Given the description of an element on the screen output the (x, y) to click on. 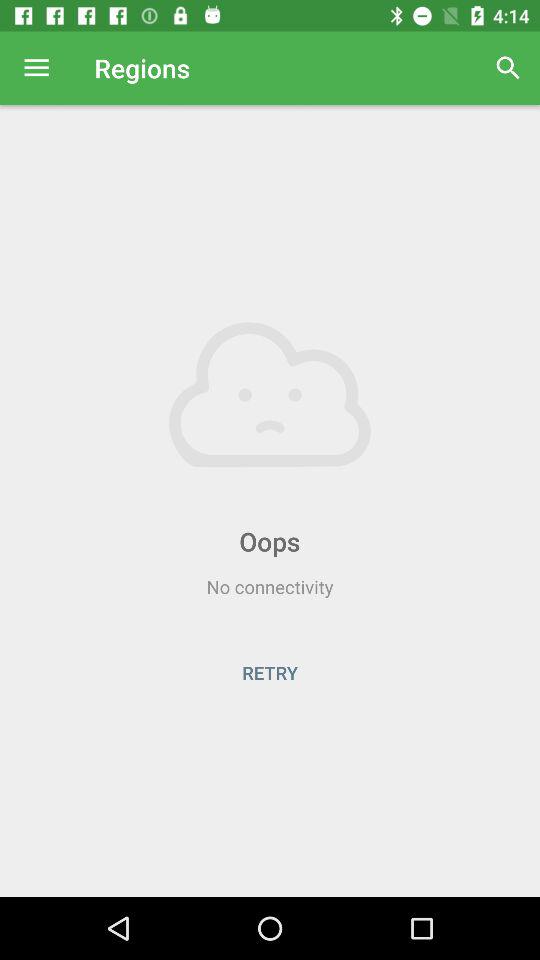
choose the icon below the no connectivity (269, 672)
